Given the description of an element on the screen output the (x, y) to click on. 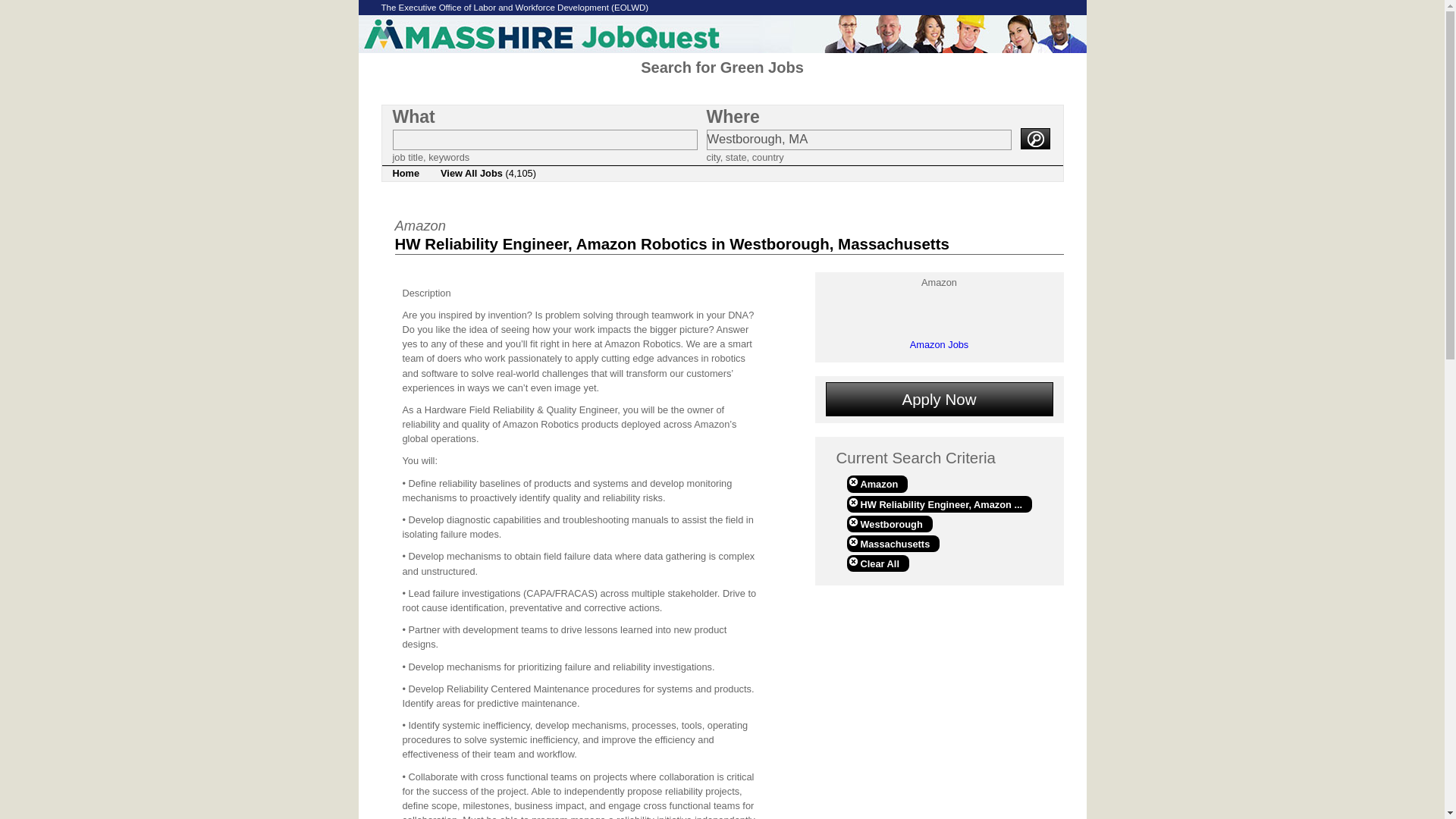
Remove Massachusetts (892, 543)
search (1034, 138)
HW Reliability Engineer, Amazon ... (938, 504)
Search Phrase (545, 139)
Submit Search (1034, 138)
Clear All (876, 563)
Amazon Jobs (939, 344)
Westborough, MA (858, 139)
Remove HW Reliability Engineer, Amazon Robotics (938, 504)
Westborough (888, 523)
